Given the description of an element on the screen output the (x, y) to click on. 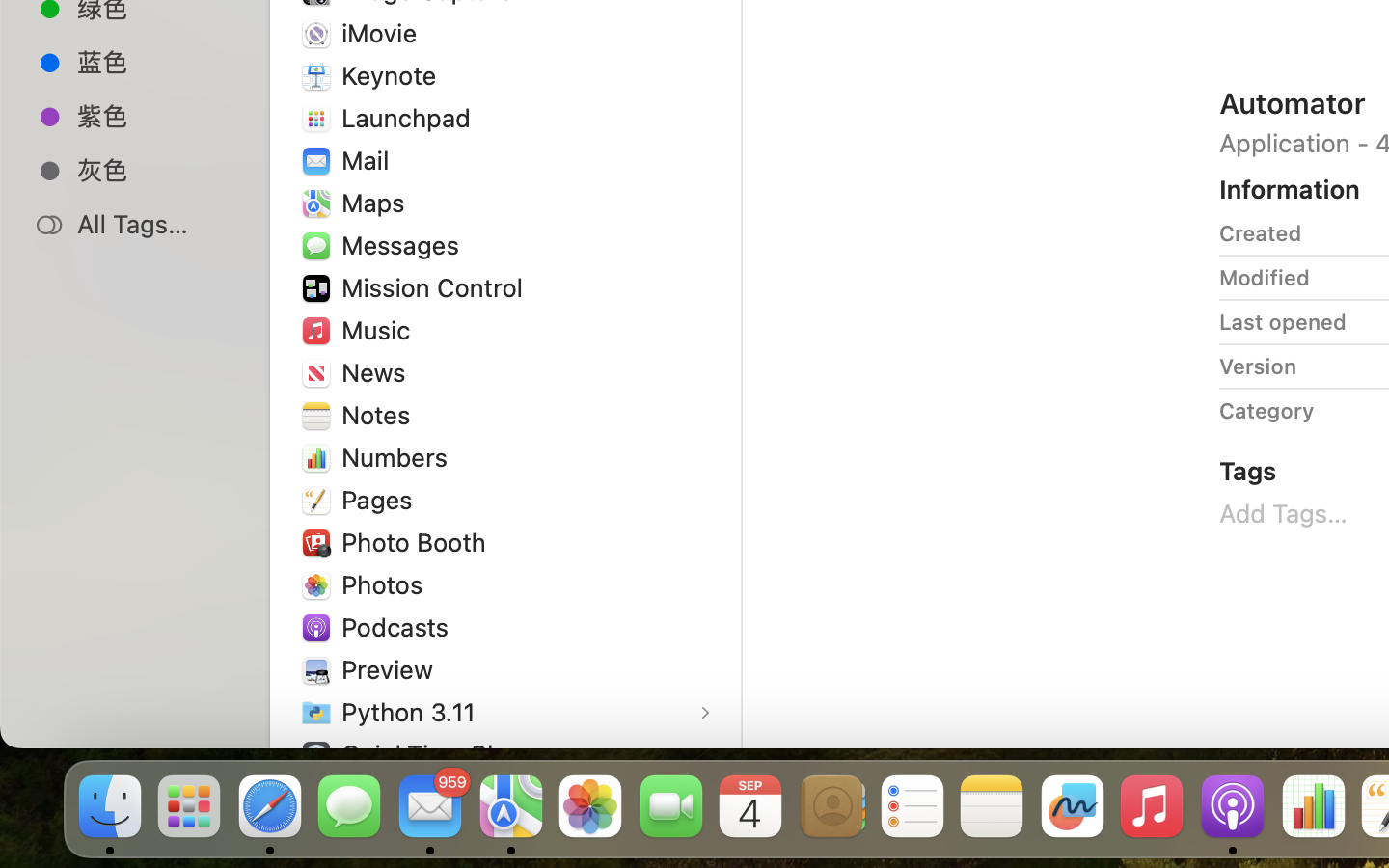
All Tags… Element type: AXStaticText (155, 223)
蓝色 Element type: AXStaticText (155, 61)
Tags Element type: AXStaticText (1247, 470)
灰色 Element type: AXStaticText (155, 169)
Maps Element type: AXTextField (376, 202)
